Given the description of an element on the screen output the (x, y) to click on. 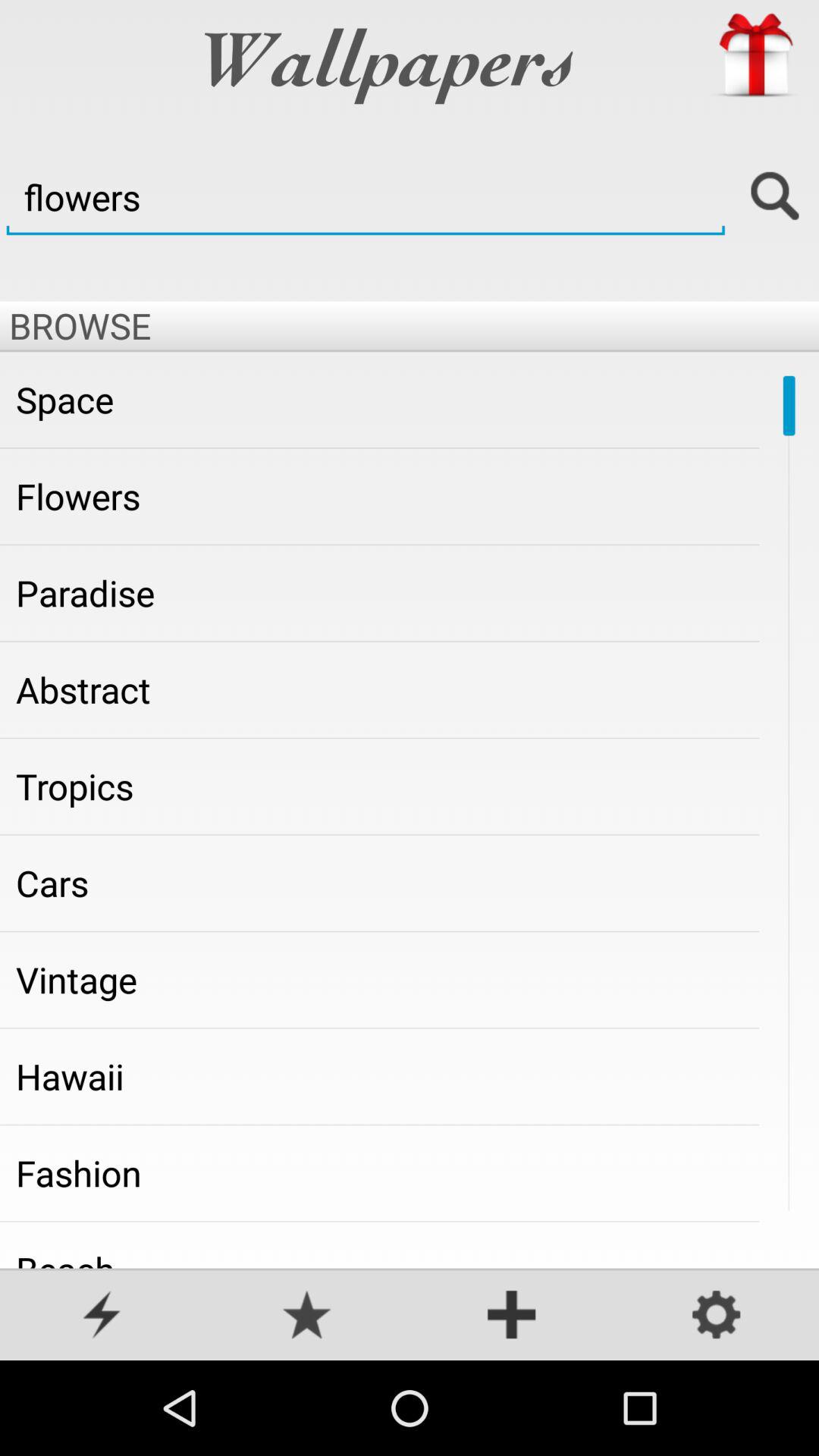
setting page (716, 1316)
